Given the description of an element on the screen output the (x, y) to click on. 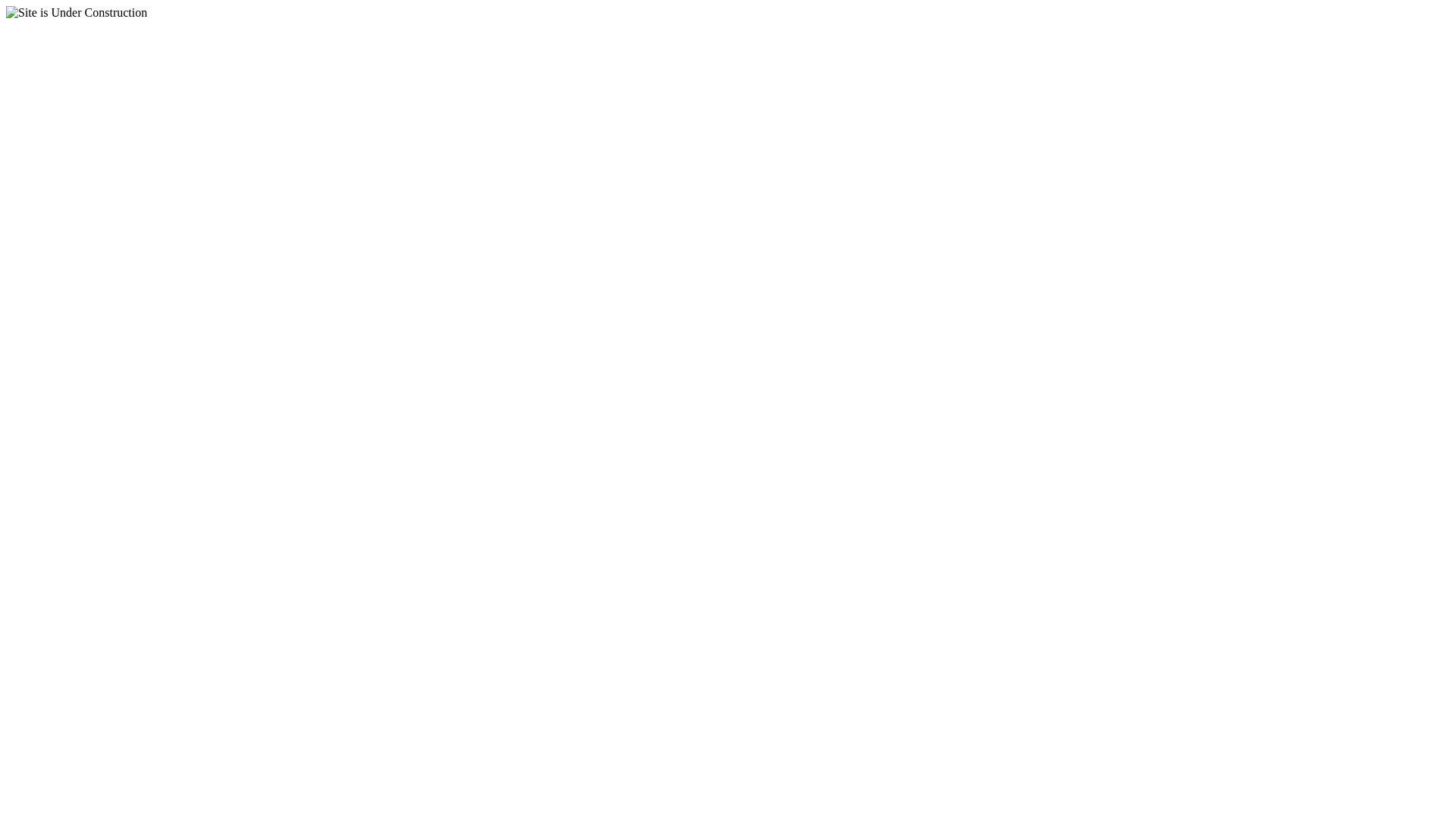
Site is Under Construction Element type: hover (76, 12)
